Given the description of an element on the screen output the (x, y) to click on. 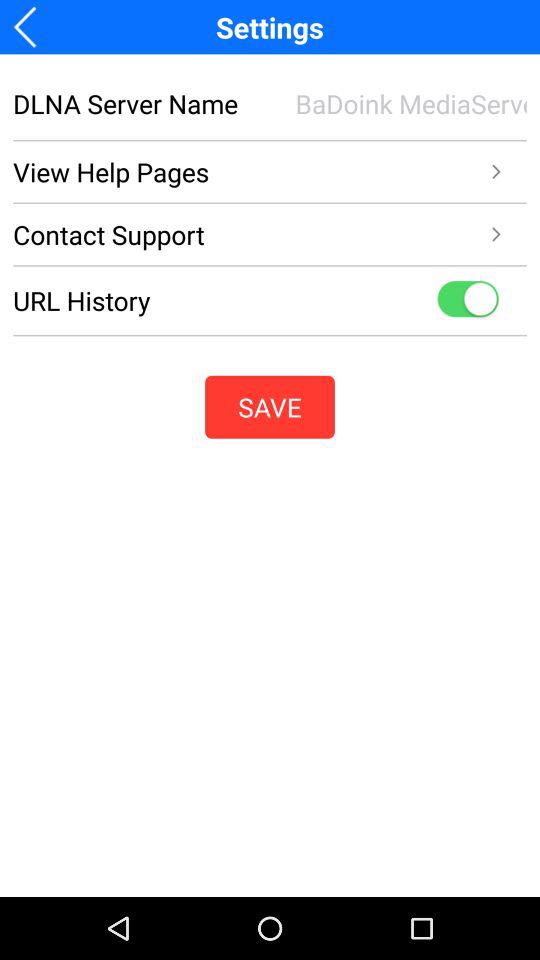
go back (31, 26)
